Given the description of an element on the screen output the (x, y) to click on. 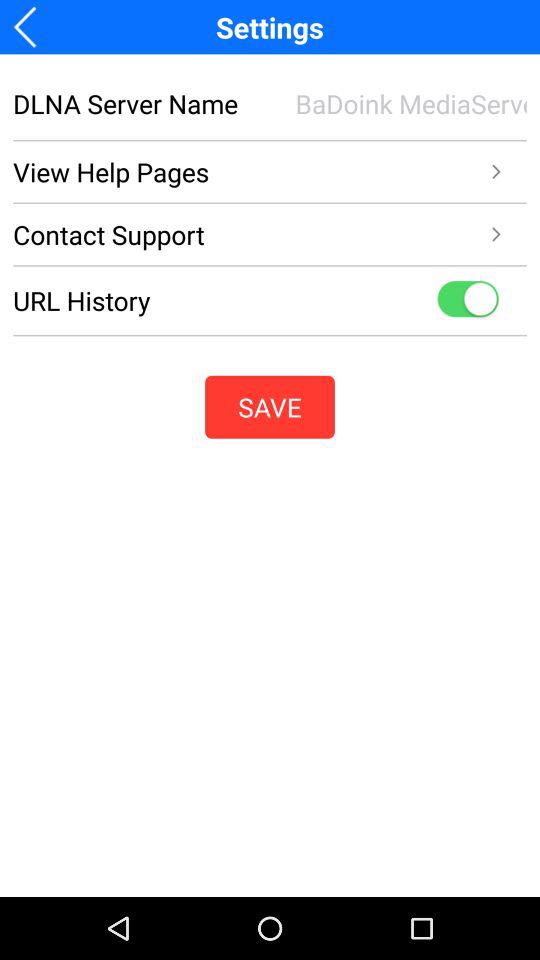
go back (31, 26)
